Given the description of an element on the screen output the (x, y) to click on. 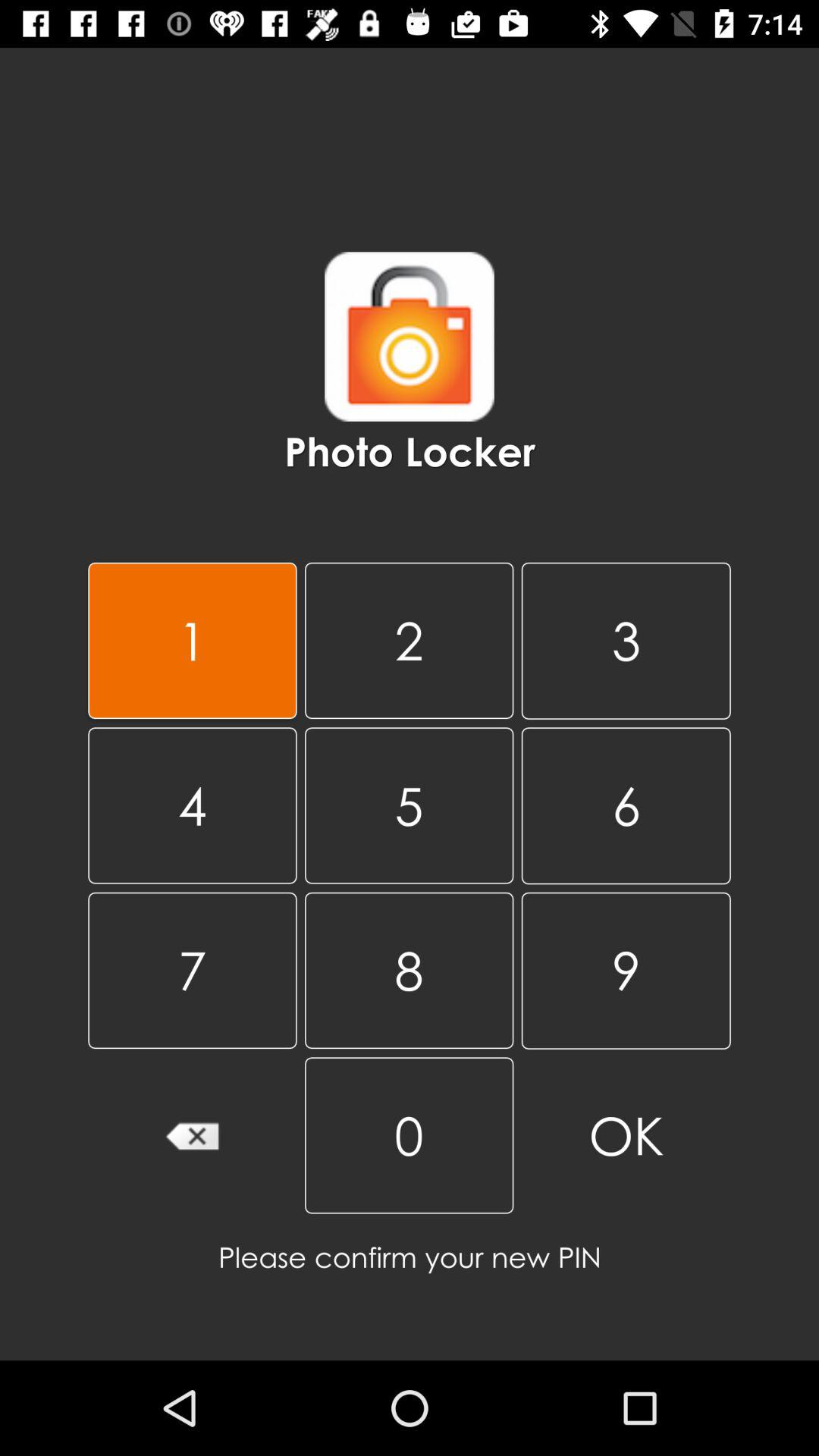
choose the item below 4 (192, 970)
